Given the description of an element on the screen output the (x, y) to click on. 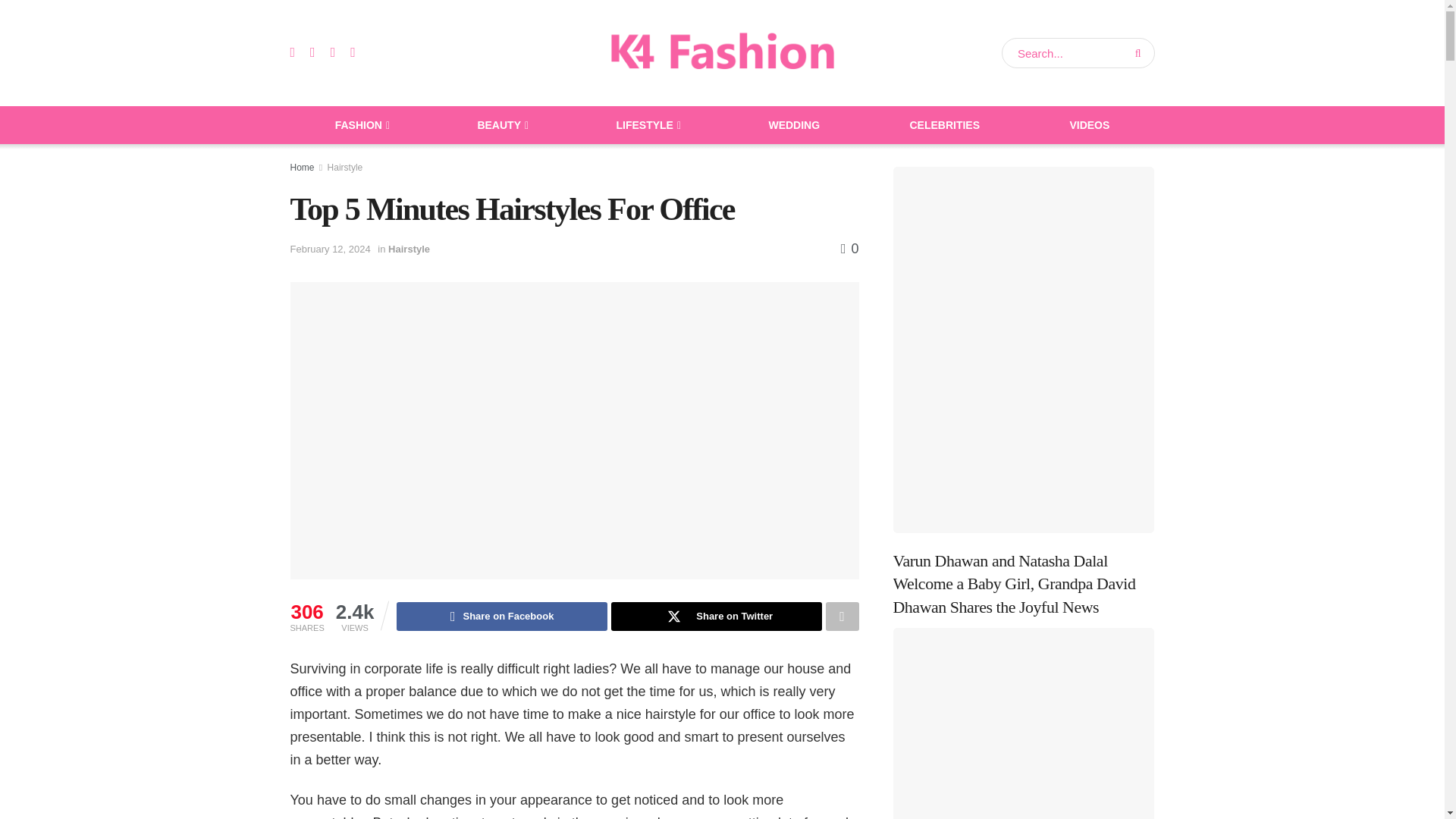
BEAUTY (501, 125)
WEDDING (793, 125)
FASHION (360, 125)
VIDEOS (1089, 125)
LIFESTYLE (646, 125)
CELEBRITIES (944, 125)
